Given the description of an element on the screen output the (x, y) to click on. 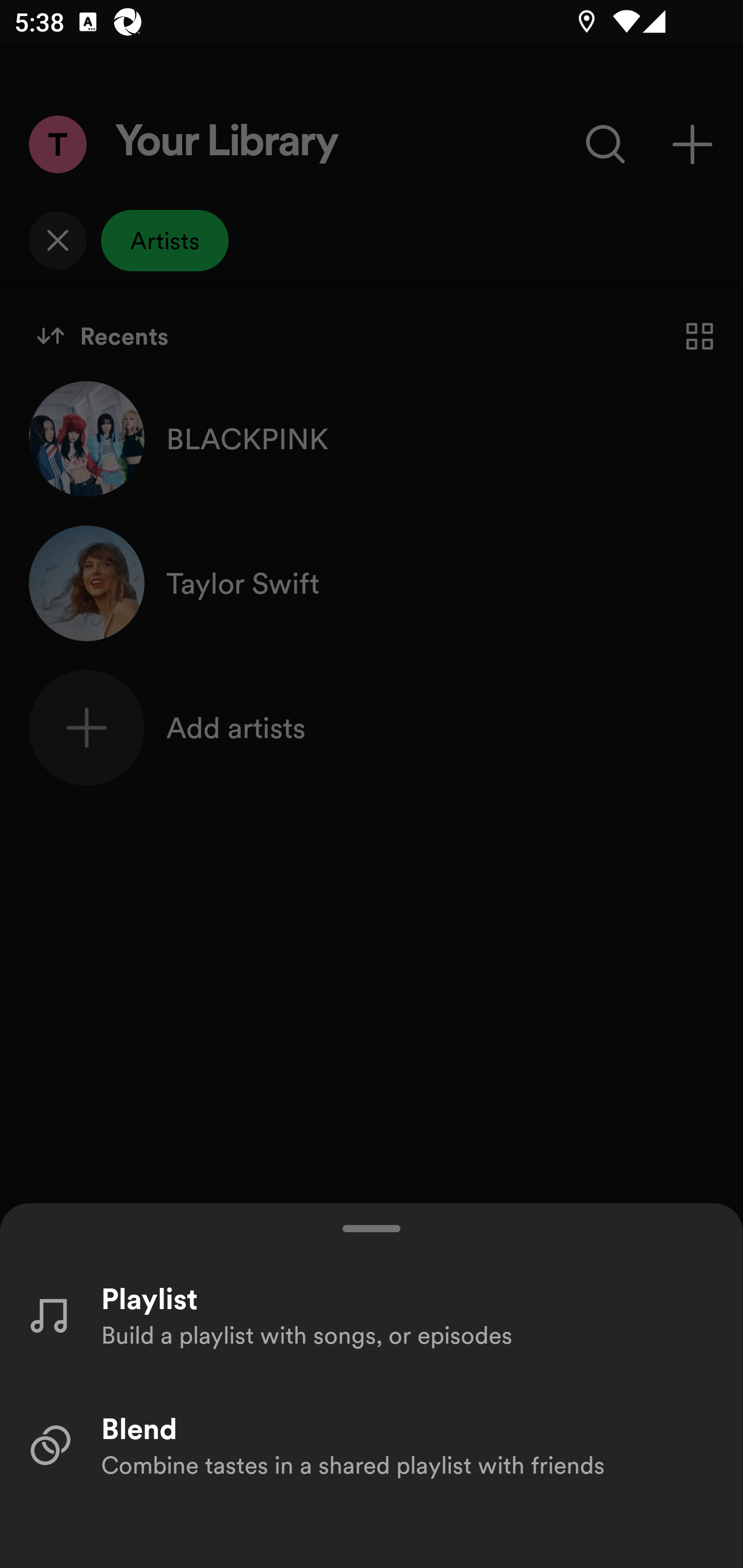
Playlist Build a playlist with songs, or episodes (371, 1314)
